Given the description of an element on the screen output the (x, y) to click on. 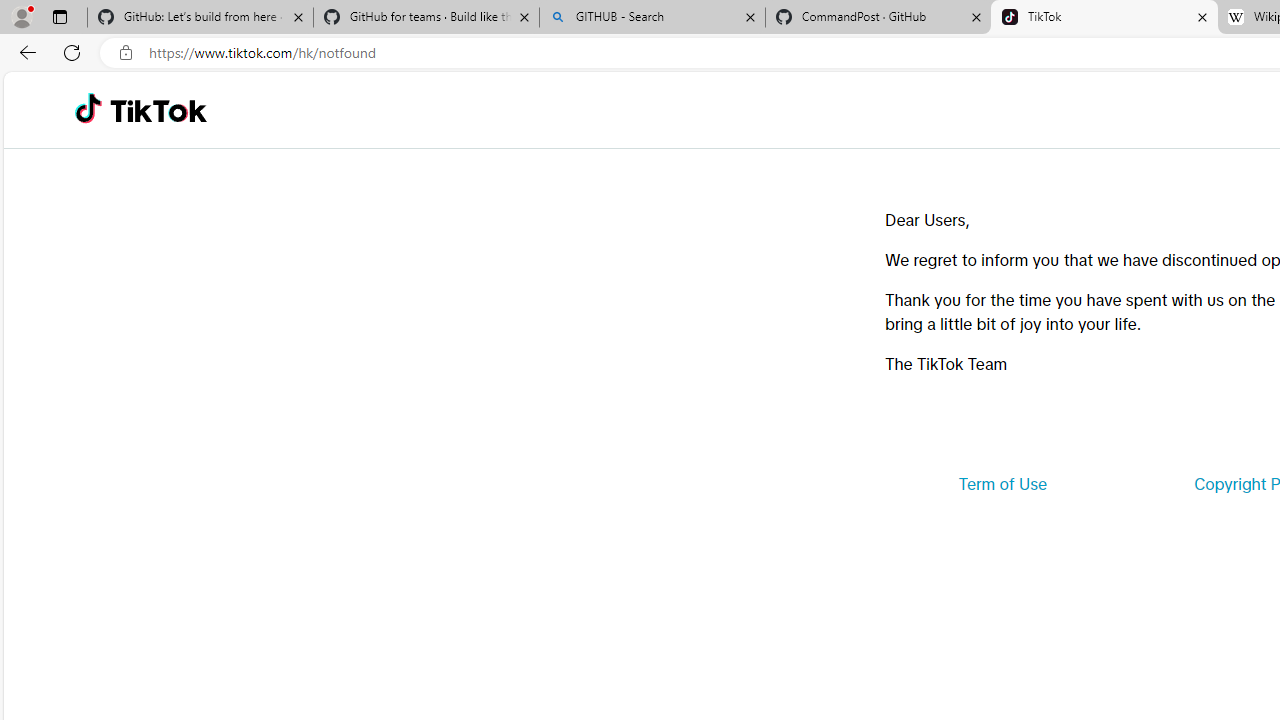
Term of Use (1002, 484)
GITHUB - Search (652, 17)
